Given the description of an element on the screen output the (x, y) to click on. 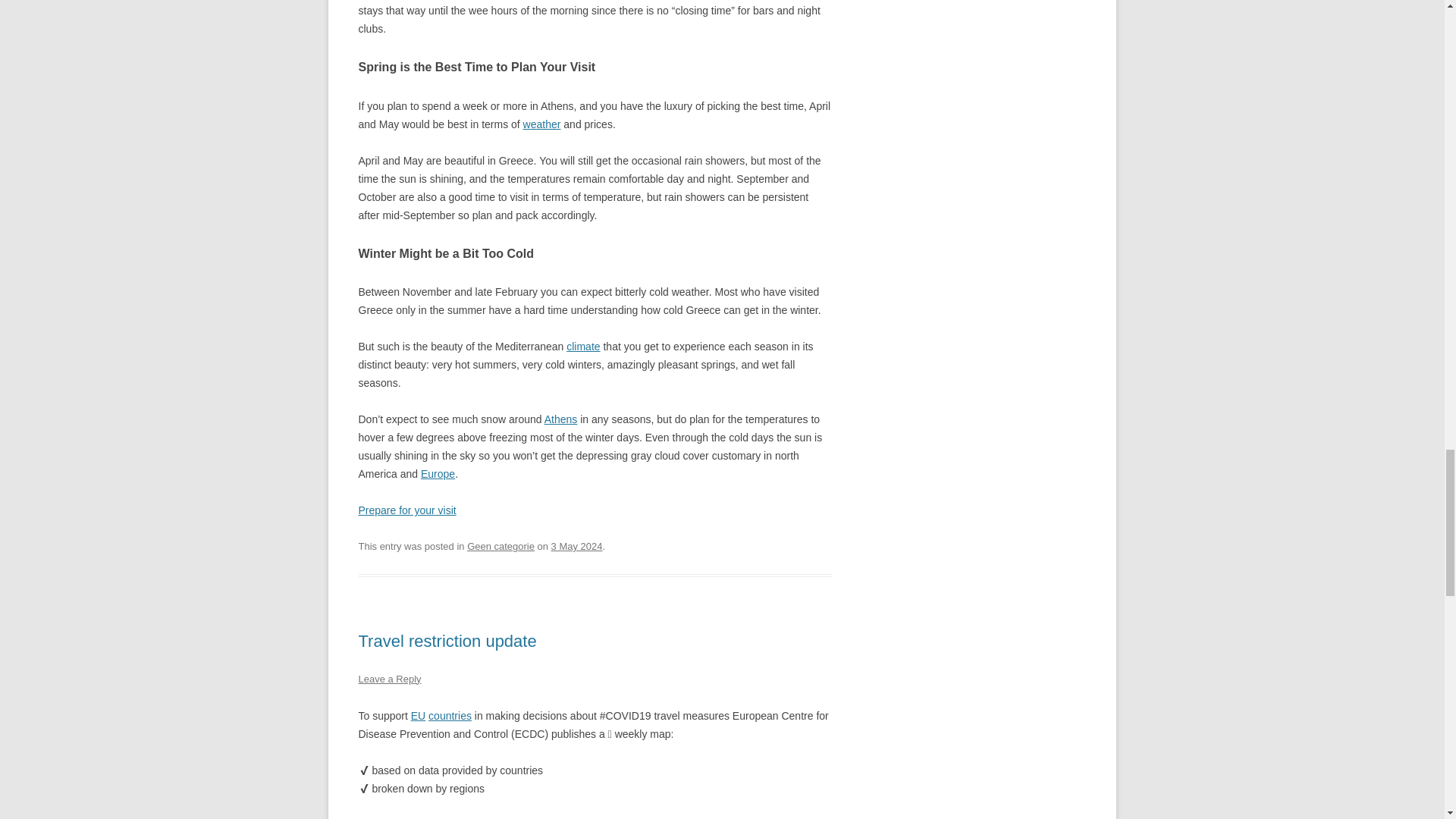
weather (541, 123)
11:18 (576, 546)
Athens (561, 419)
Museums, Greece (406, 510)
climate (582, 346)
Athens, Greece (561, 419)
